Given the description of an element on the screen output the (x, y) to click on. 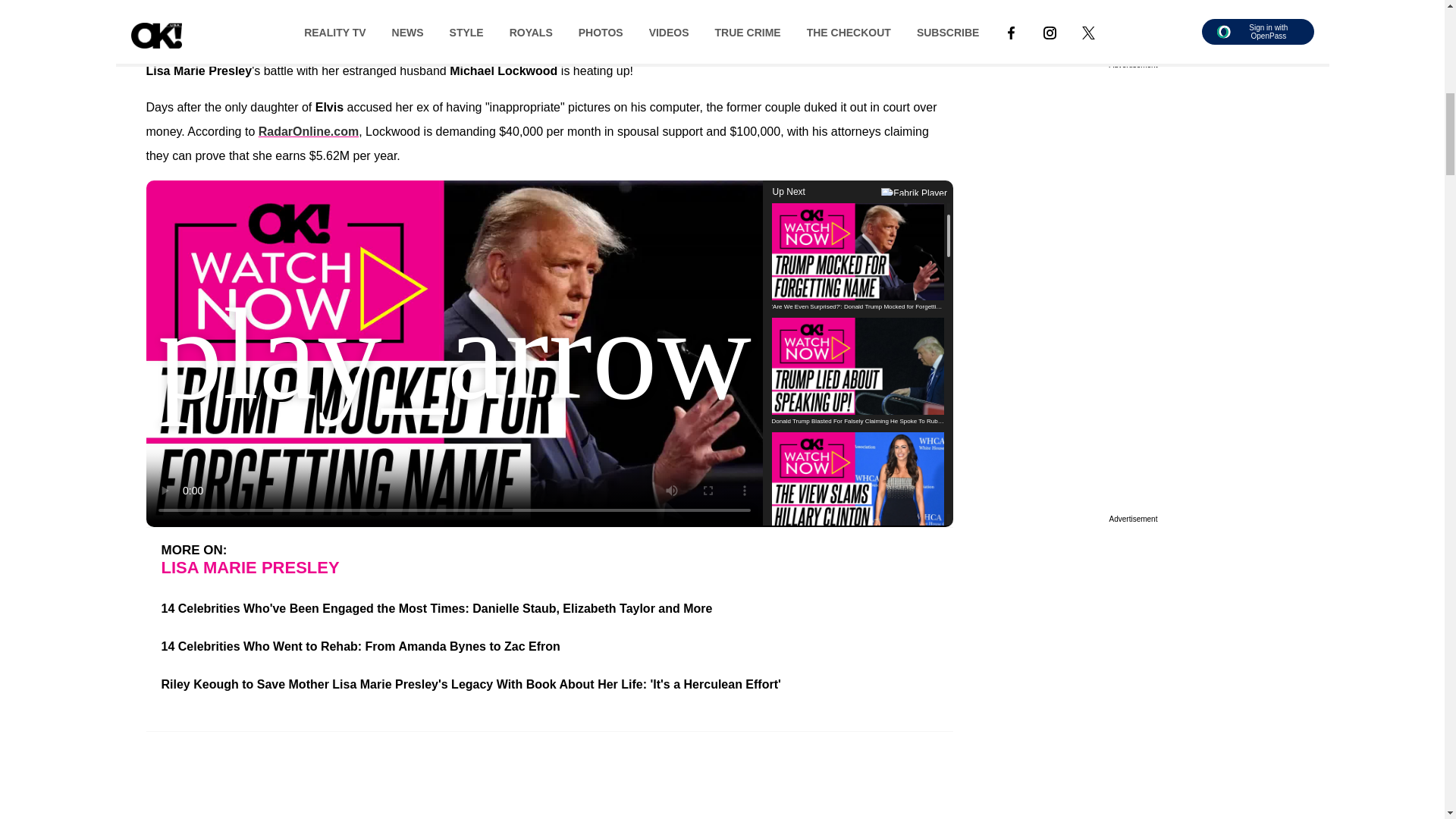
RadarOnline.com (308, 131)
